Given the description of an element on the screen output the (x, y) to click on. 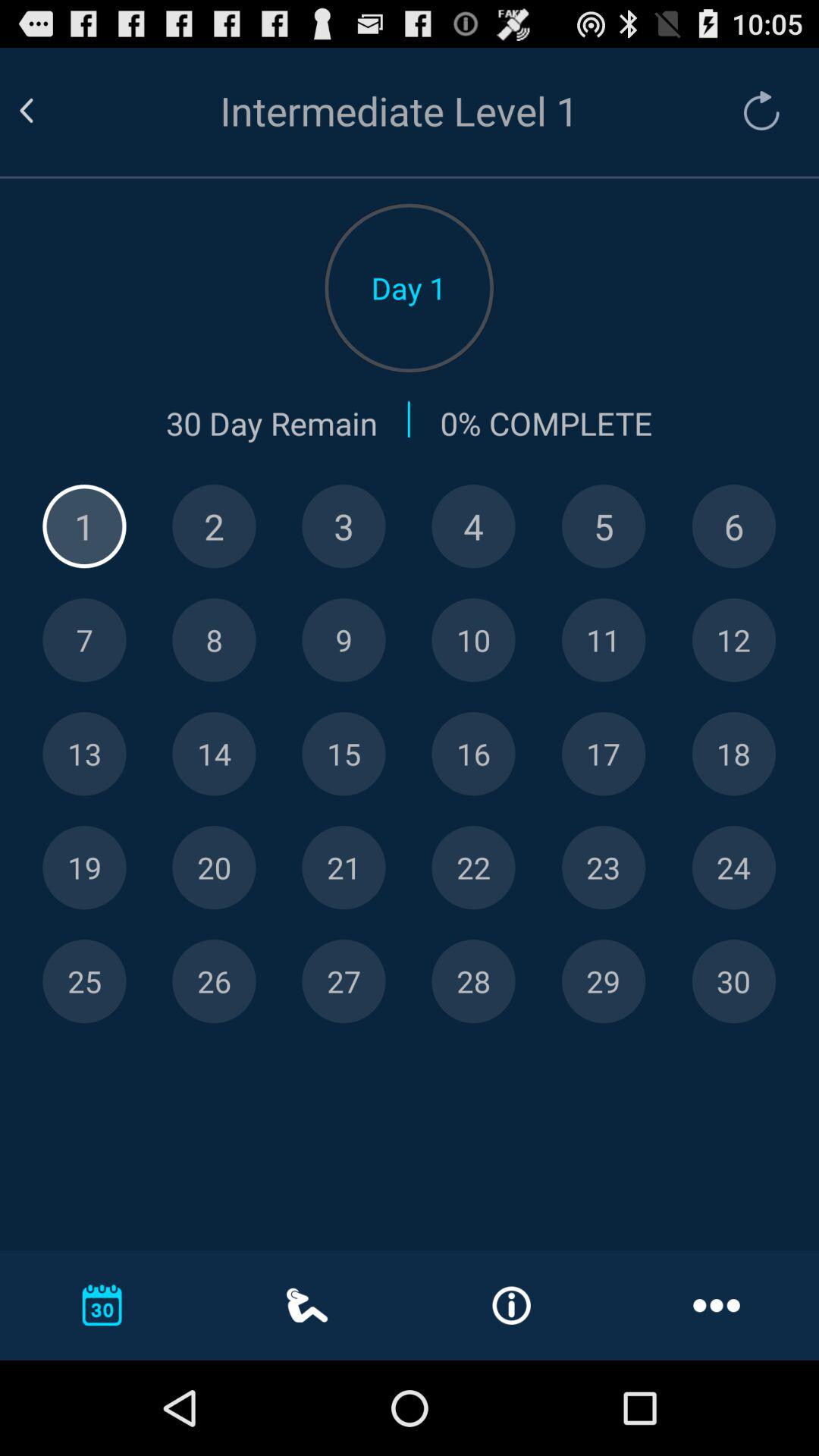
choose 6 (733, 526)
